Given the description of an element on the screen output the (x, y) to click on. 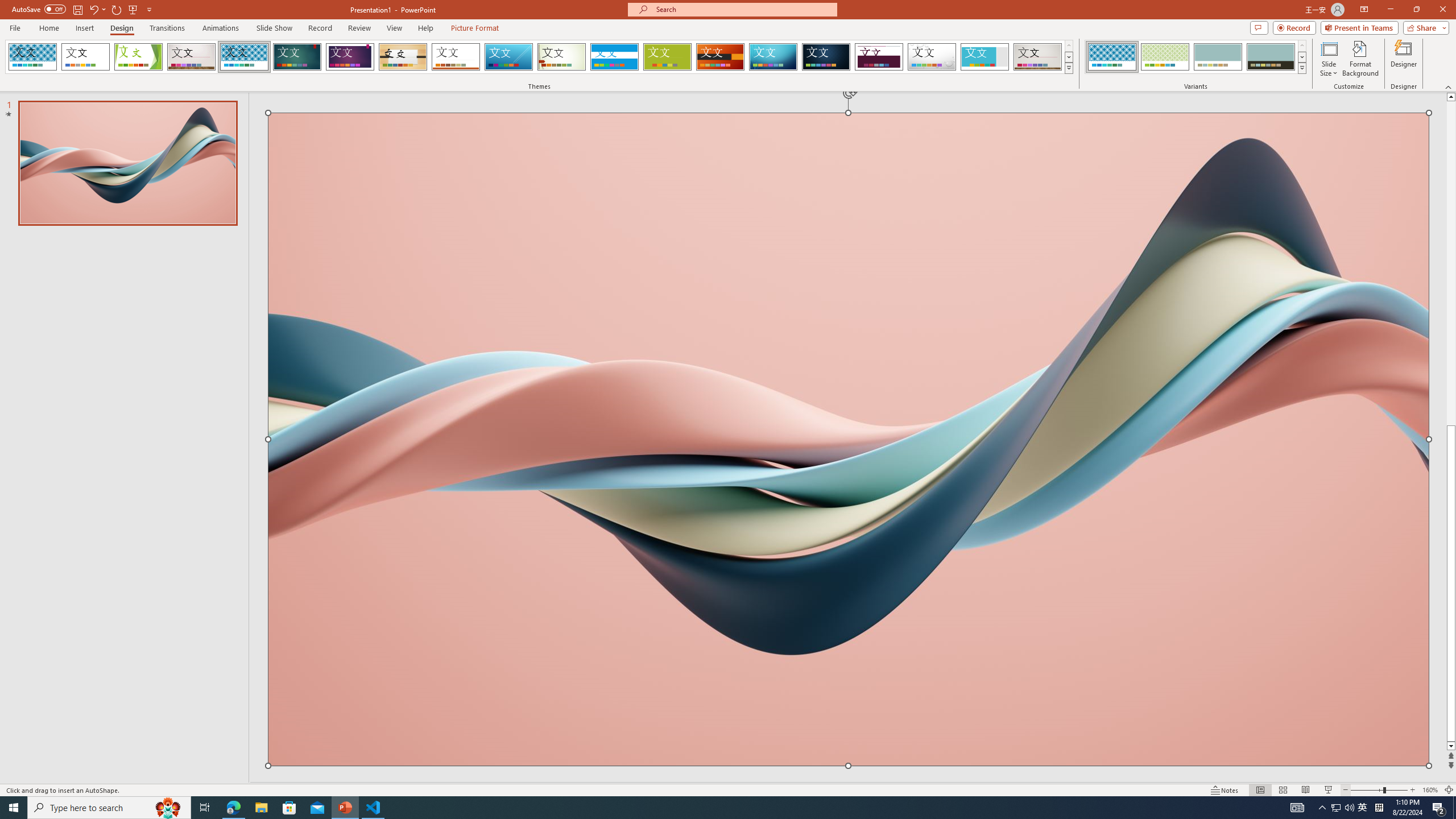
Class: MsoCommandBar (728, 789)
Organic (403, 56)
Office Theme (85, 56)
Berlin (720, 56)
AutomationID: SlideThemesGallery (539, 56)
